Given the description of an element on the screen output the (x, y) to click on. 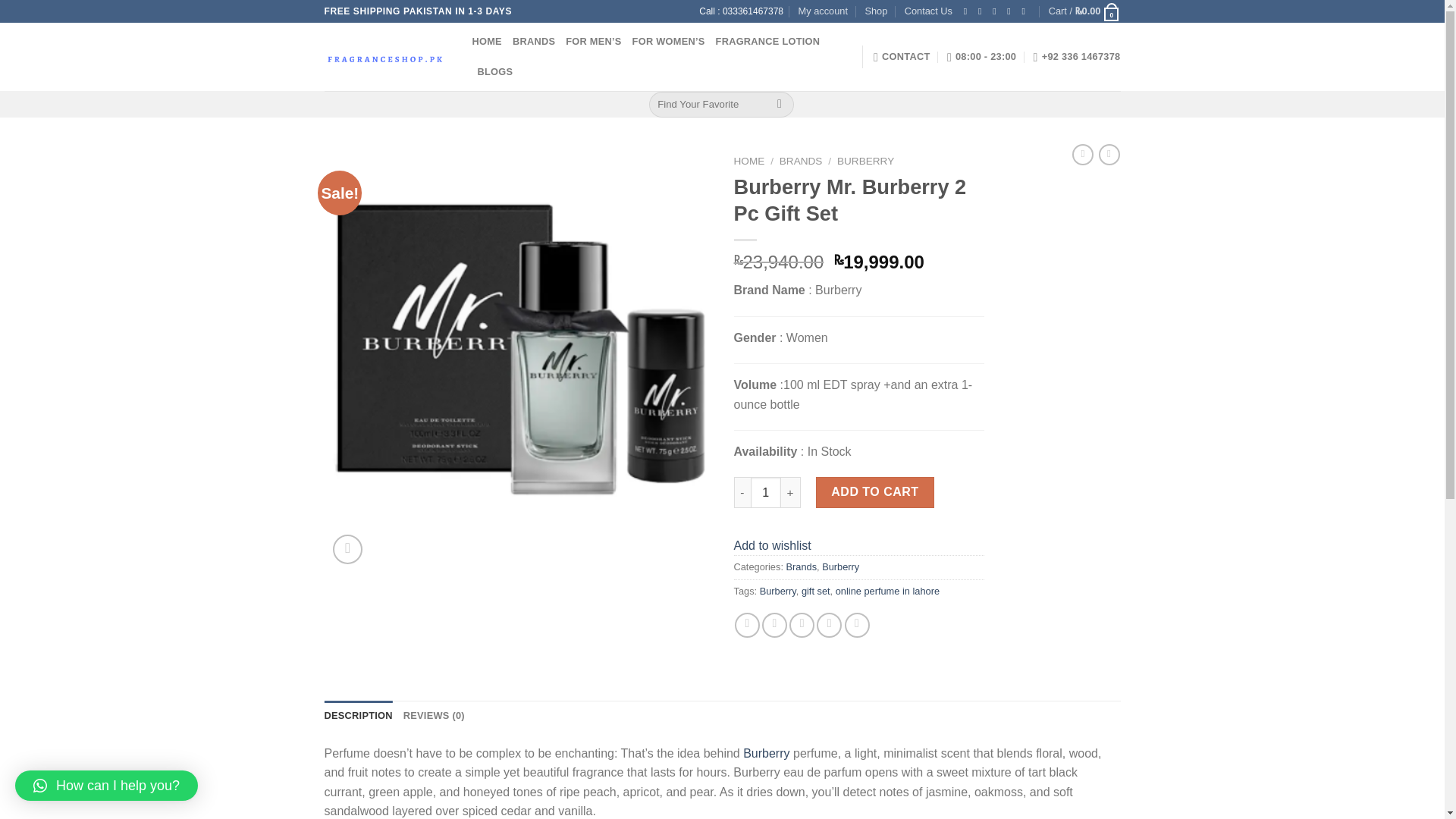
Fragrance Shop - Fragrances That Exclaim You (386, 56)
1 (765, 491)
FRAGRANCE LOTION (768, 41)
BLOGS (495, 71)
Search (779, 104)
BRANDS (533, 41)
Shop (875, 11)
Burberry (840, 566)
Zoom (347, 549)
CONTACT (901, 56)
